Given the description of an element on the screen output the (x, y) to click on. 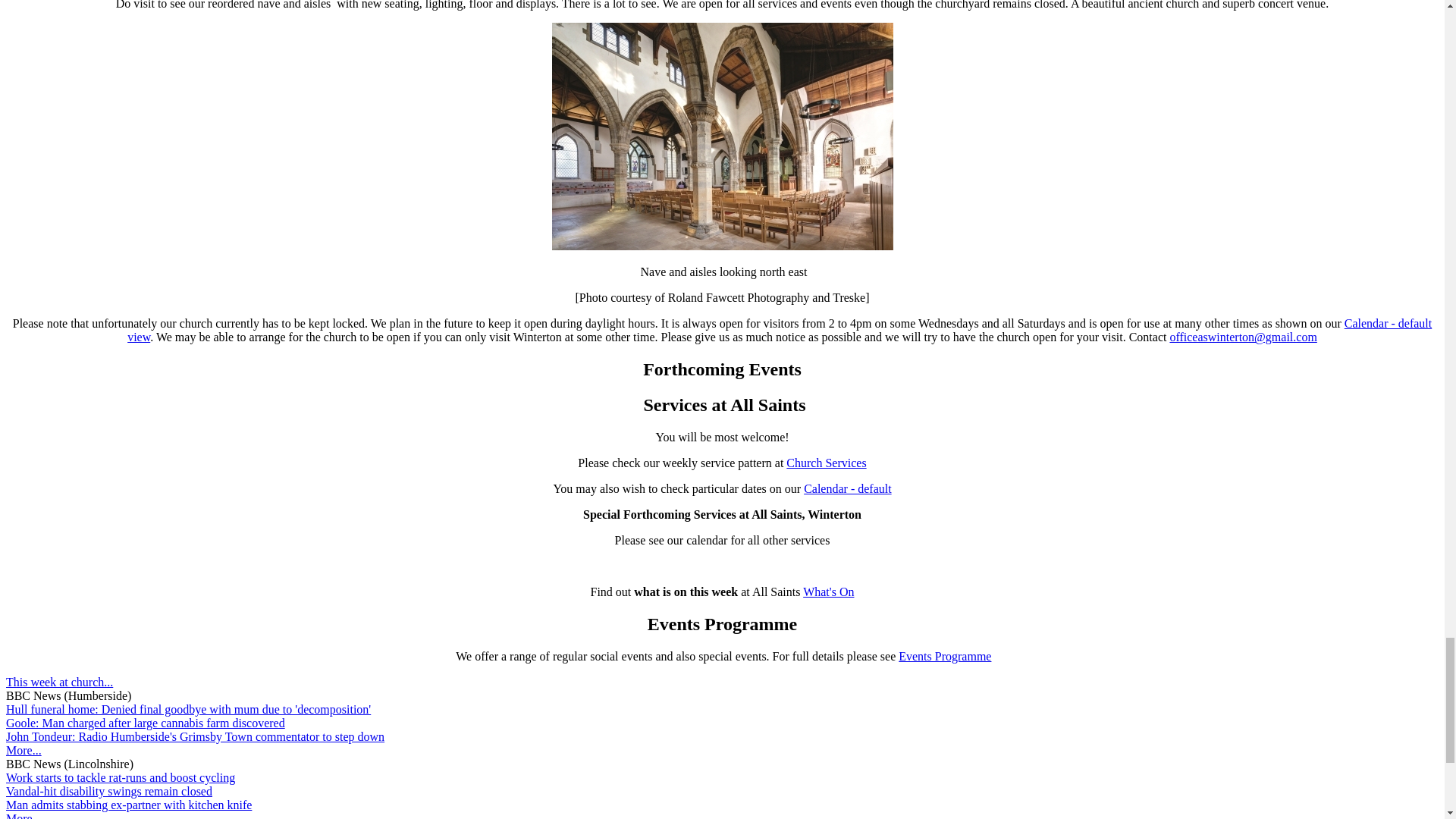
Man admits stabbing ex-partner with kitchen knife (128, 804)
Work starts to tackle rat-runs and boost cycling (119, 777)
More... (23, 815)
Vandal-hit disability swings remain closed (108, 790)
Calendar - default (847, 488)
Events Programme (944, 656)
Calendar - default view (779, 329)
This week at church... (59, 681)
